Given the description of an element on the screen output the (x, y) to click on. 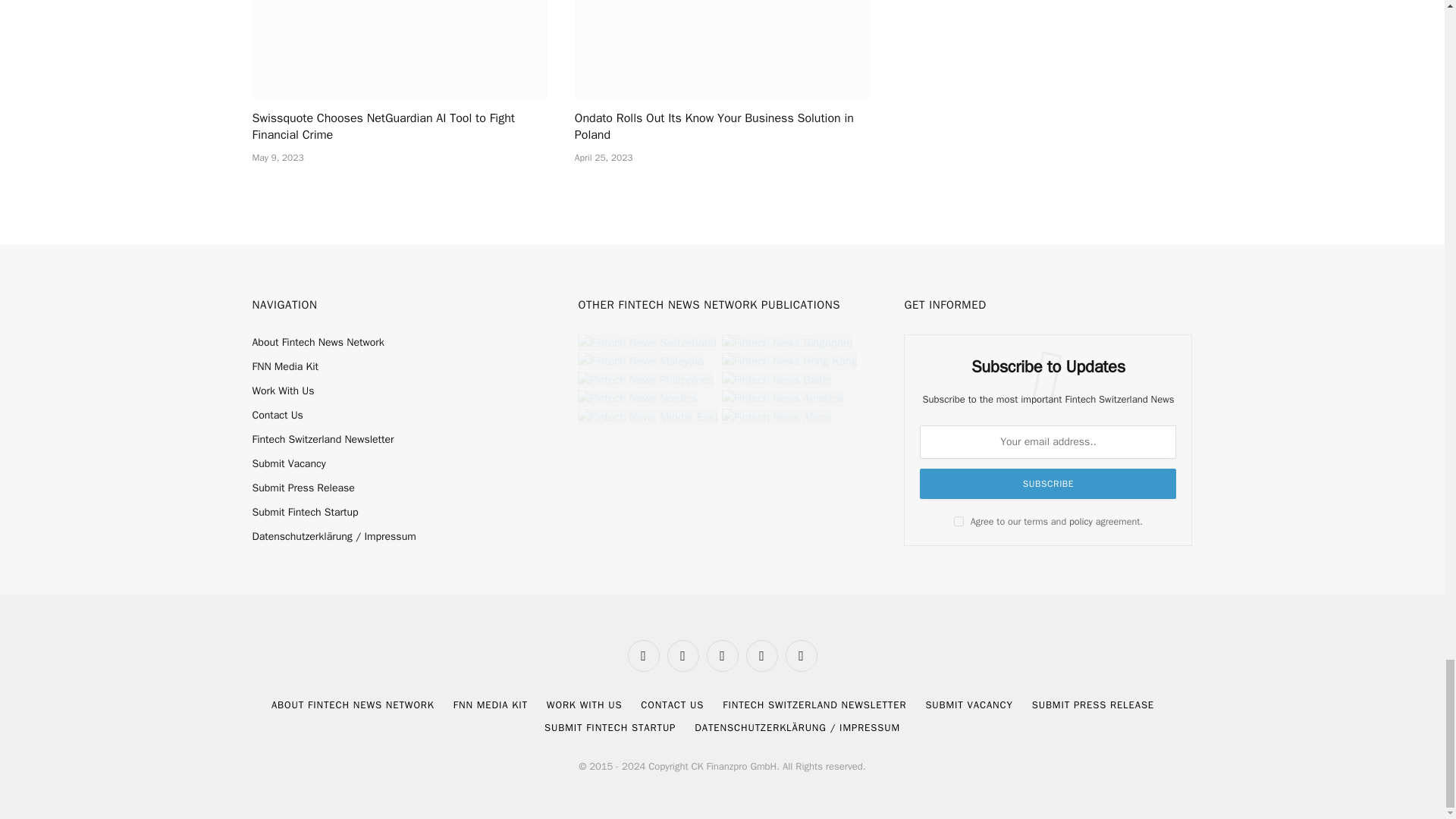
Subscribe (1048, 483)
on (958, 521)
